Given the description of an element on the screen output the (x, y) to click on. 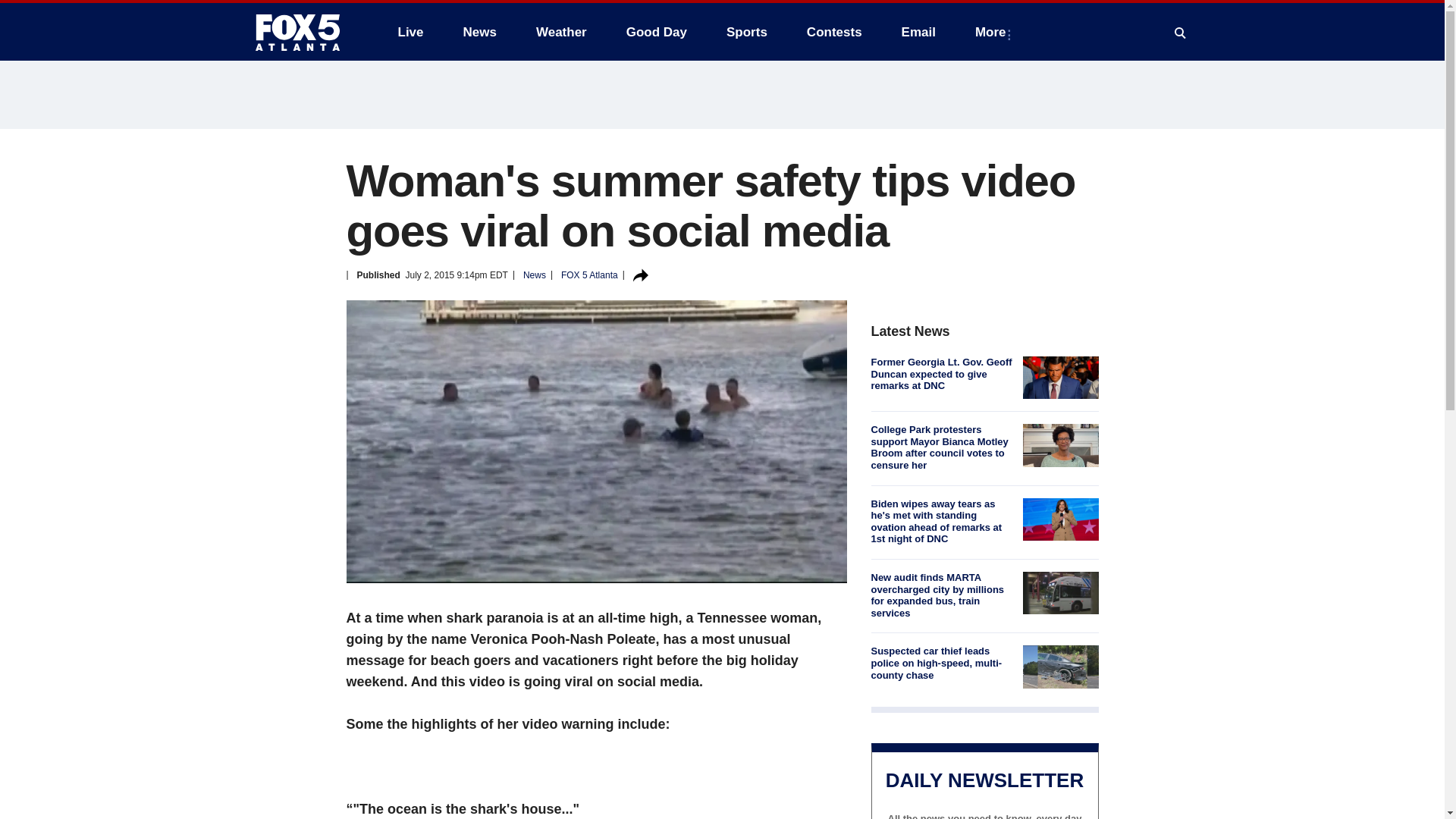
Live (410, 32)
Good Day (656, 32)
More (993, 32)
Contests (834, 32)
News (479, 32)
Weather (561, 32)
Sports (746, 32)
Email (918, 32)
